Given the description of an element on the screen output the (x, y) to click on. 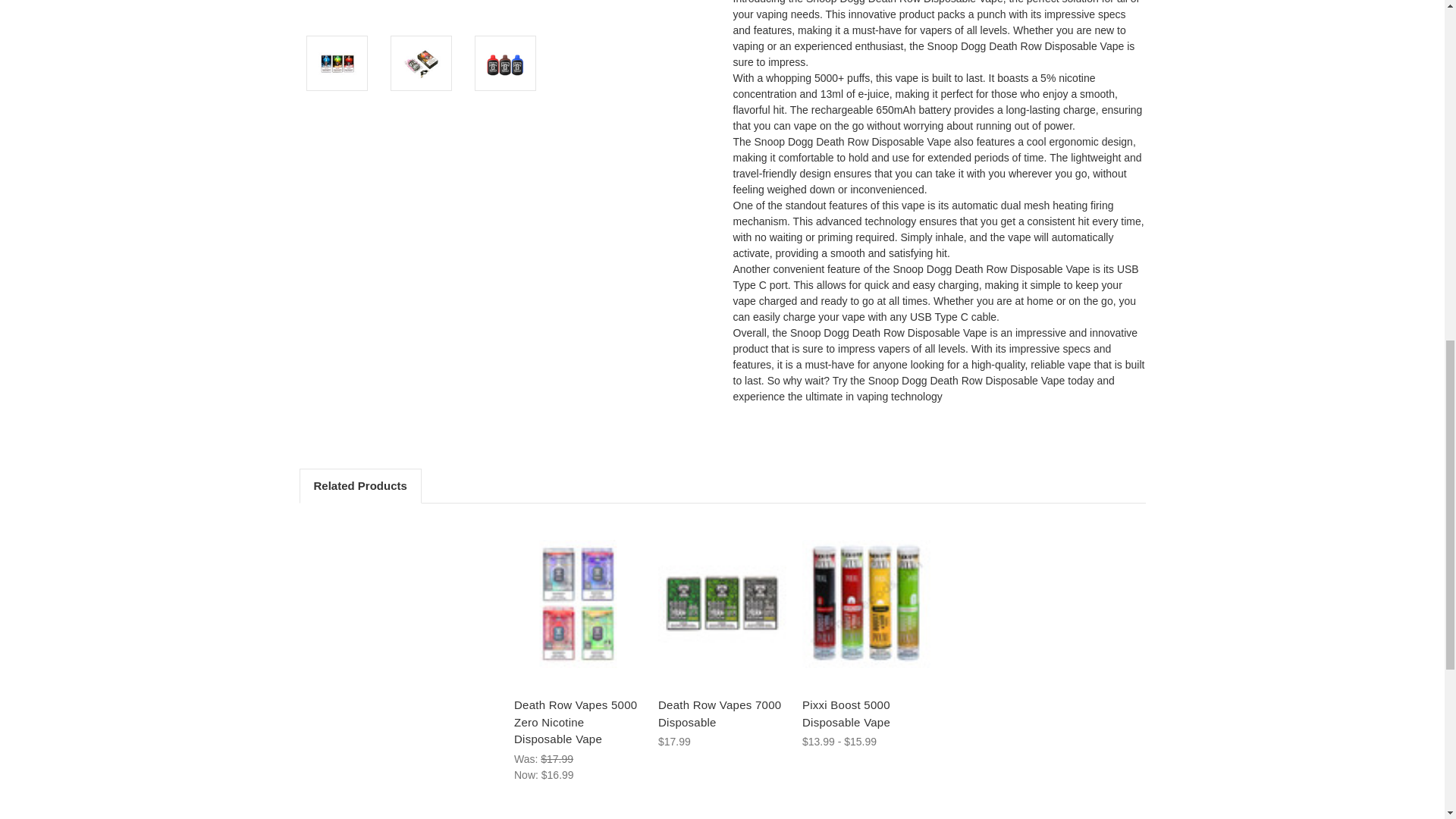
Death Row Vapes 5000 Zero Nicotine (577, 603)
Pixxi Boost (866, 603)
Death Row Vapes 7000 Disposable (722, 603)
